Given the description of an element on the screen output the (x, y) to click on. 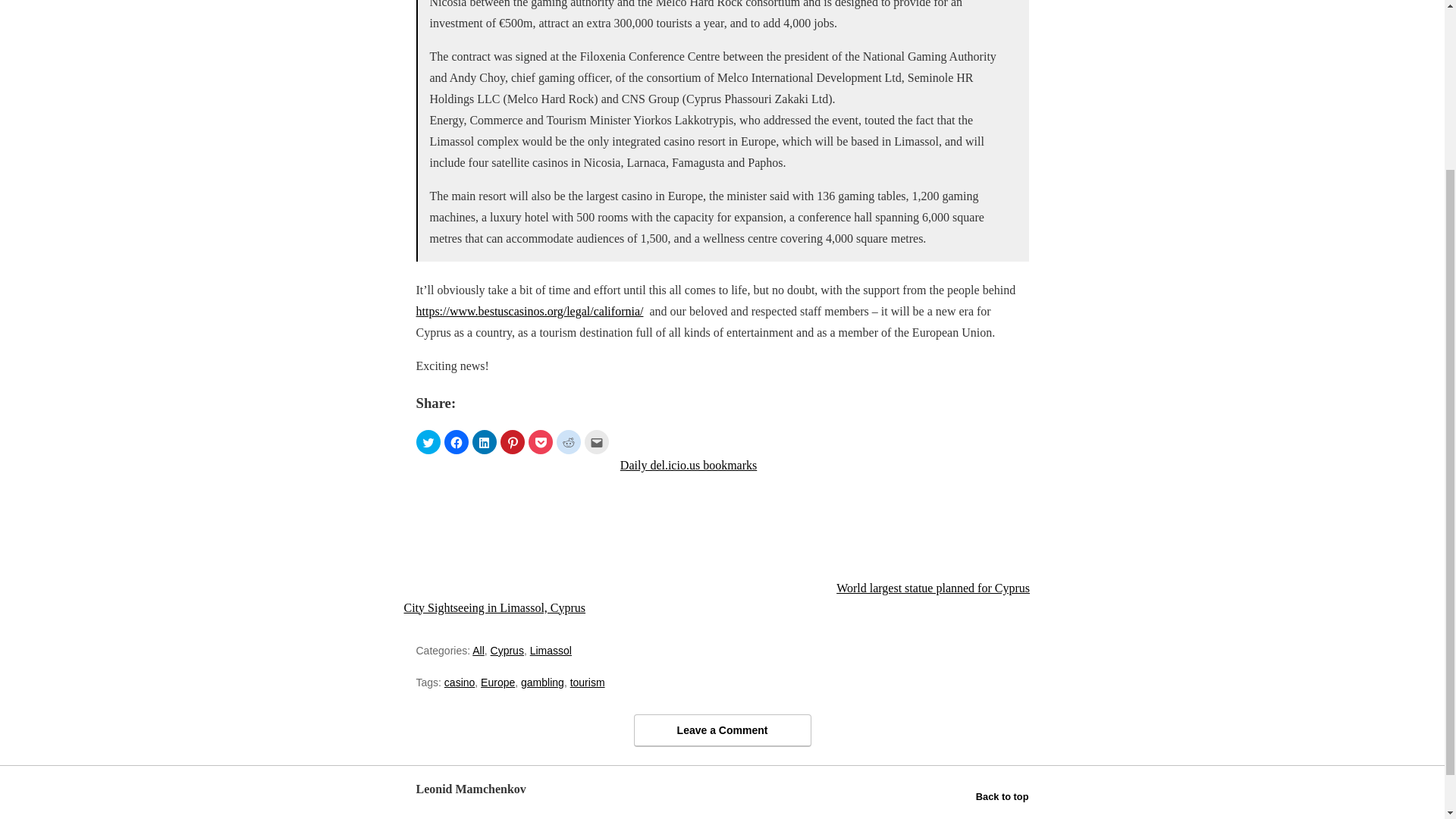
Click to share on Twitter (426, 441)
casino (459, 682)
All (477, 650)
gambling (542, 682)
Back to top (1002, 796)
Europe (497, 682)
Click to share on LinkedIn (483, 441)
tourism (587, 682)
Click to share on Facebook (456, 441)
Limassol (550, 650)
Click to share on Email (595, 441)
Click to share on Pinterest (512, 441)
City Sightseeing in Limassol, Cyprus (505, 536)
Click to share on Pocket (539, 441)
Leave a Comment (721, 730)
